Given the description of an element on the screen output the (x, y) to click on. 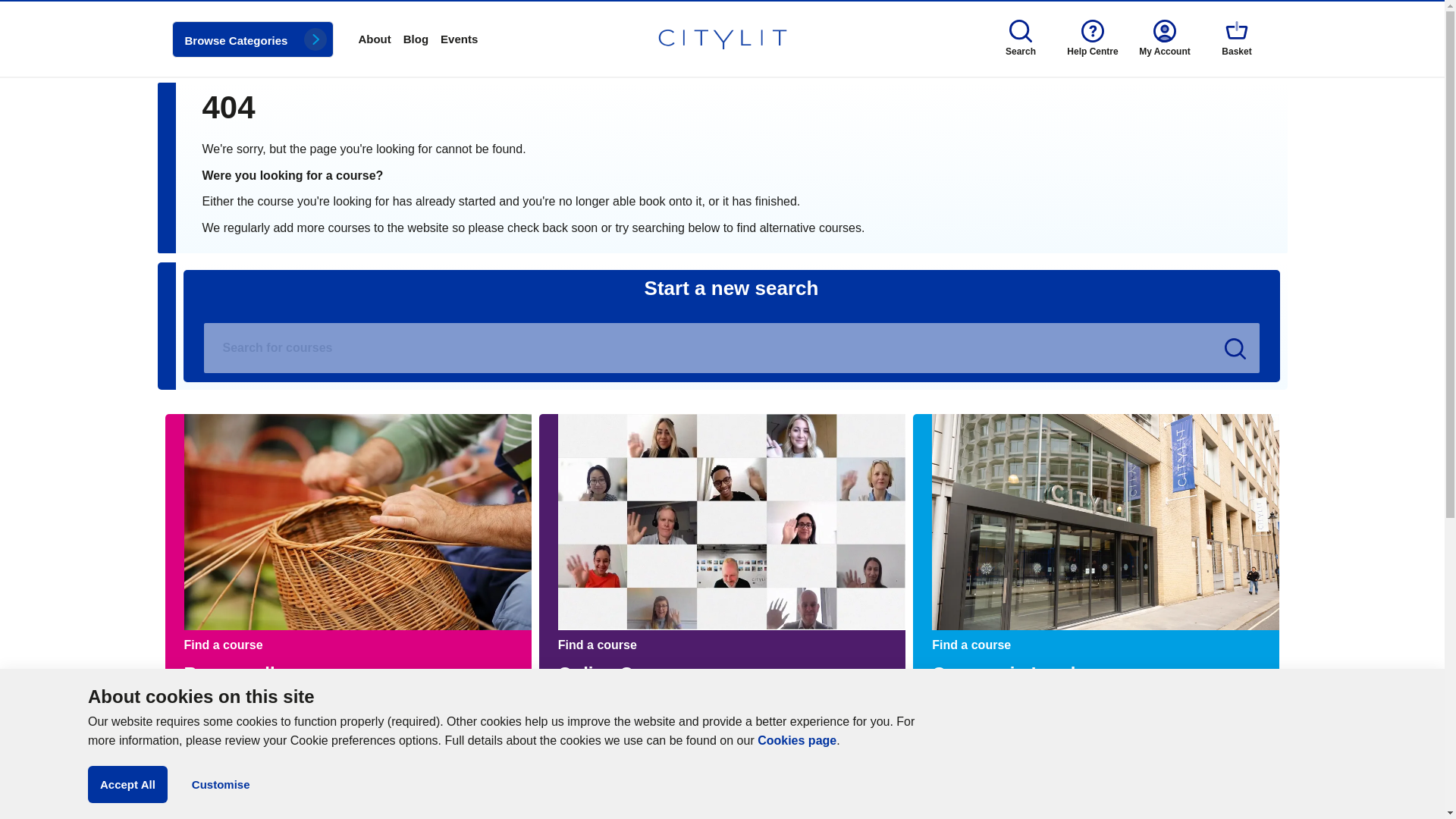
City Lit (722, 39)
Help Centre (1093, 38)
Basket (1236, 38)
Blog (415, 38)
Browse all courses (266, 672)
My Account (1163, 38)
About (374, 38)
Events (459, 38)
Browse all online courses (625, 672)
Browse Categories (252, 39)
Search (1234, 348)
Search (8, 9)
Browse courses in London (1014, 672)
